Given the description of an element on the screen output the (x, y) to click on. 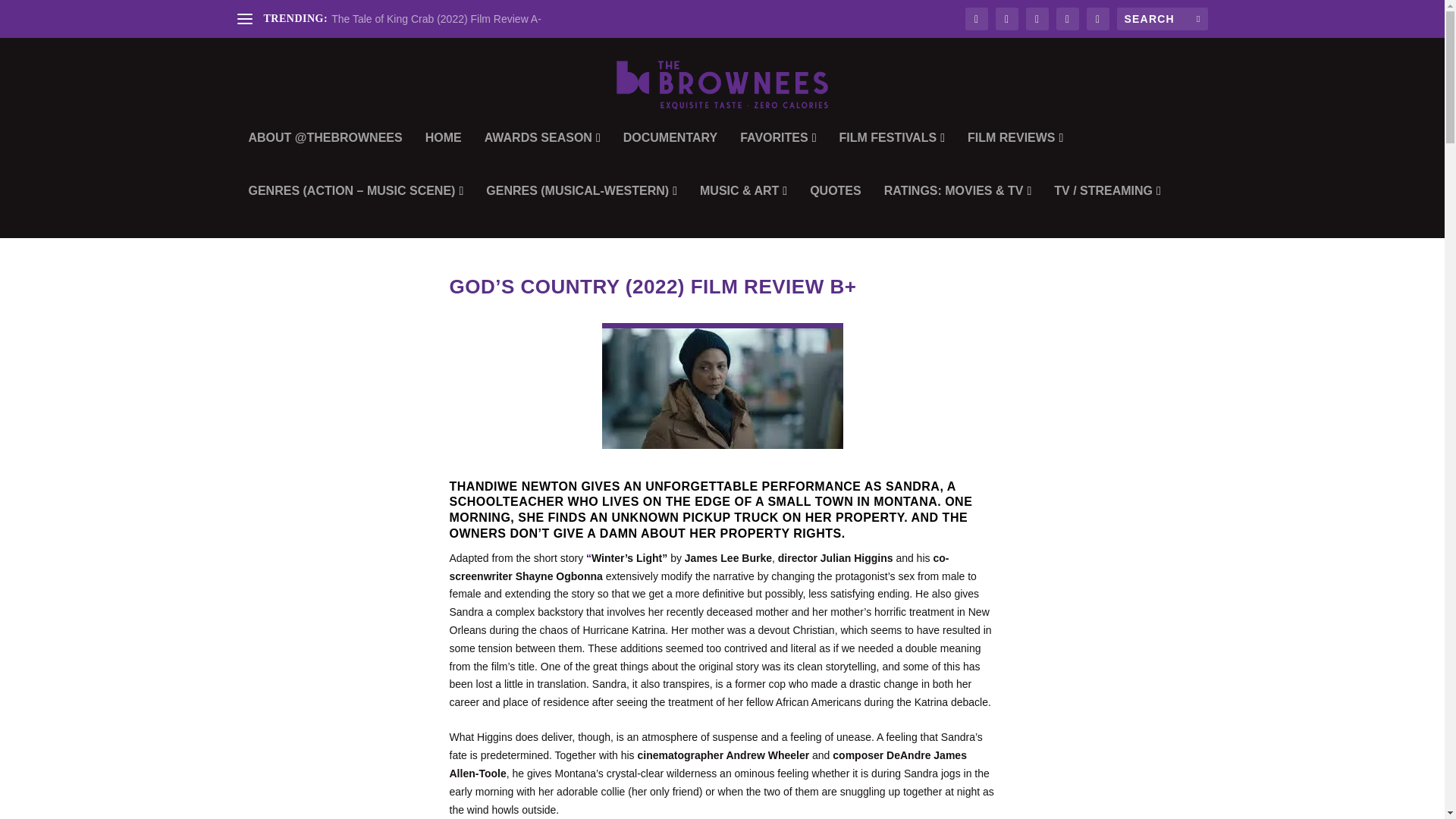
Search for: (1161, 18)
